Given the description of an element on the screen output the (x, y) to click on. 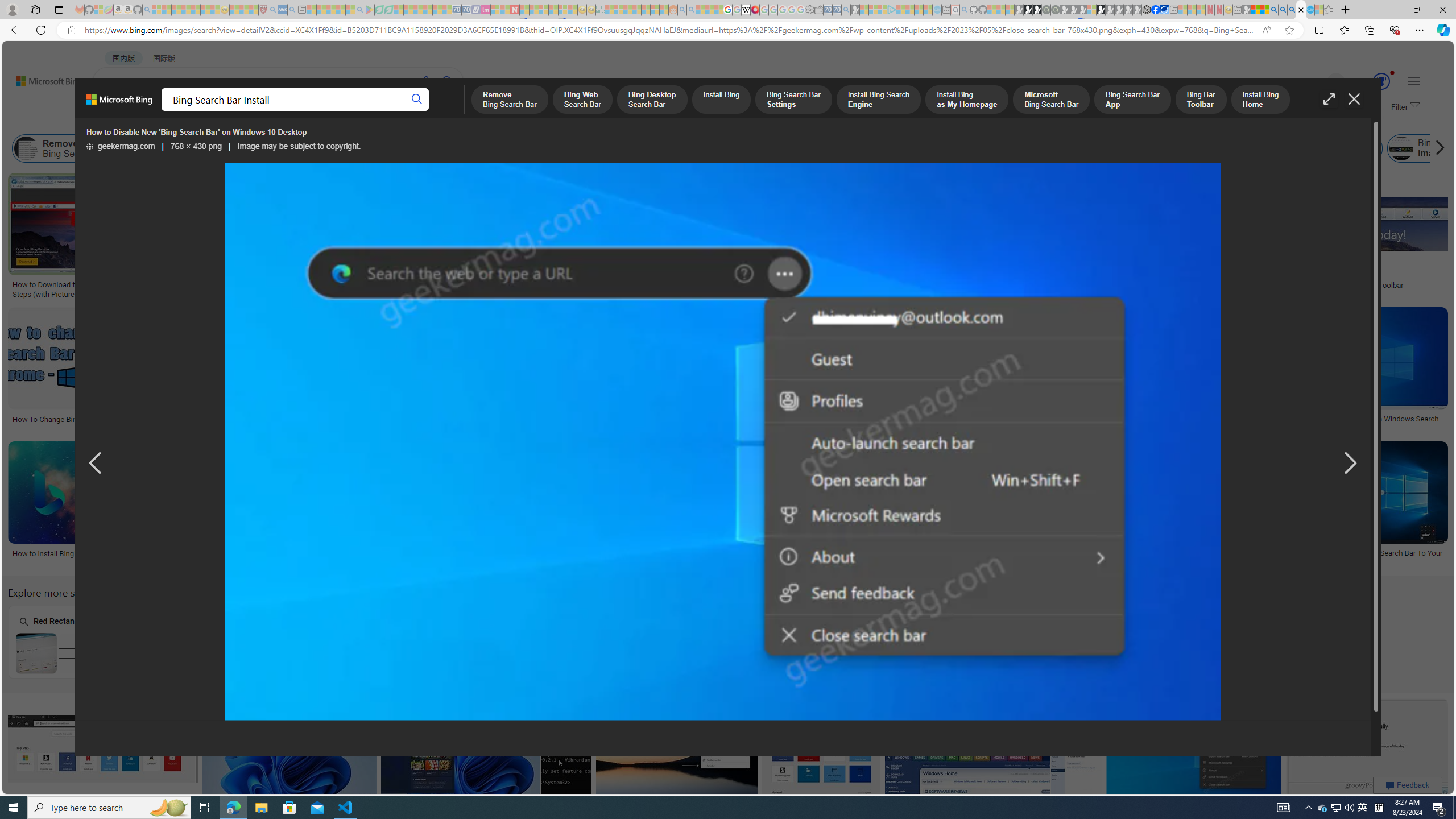
Bing Bar Download (1204, 148)
DICT (407, 111)
Image result for Bing Search Bar Install (1366, 748)
Install Bing Home (1142, 148)
Nordace | Facebook (1154, 9)
